Given the description of an element on the screen output the (x, y) to click on. 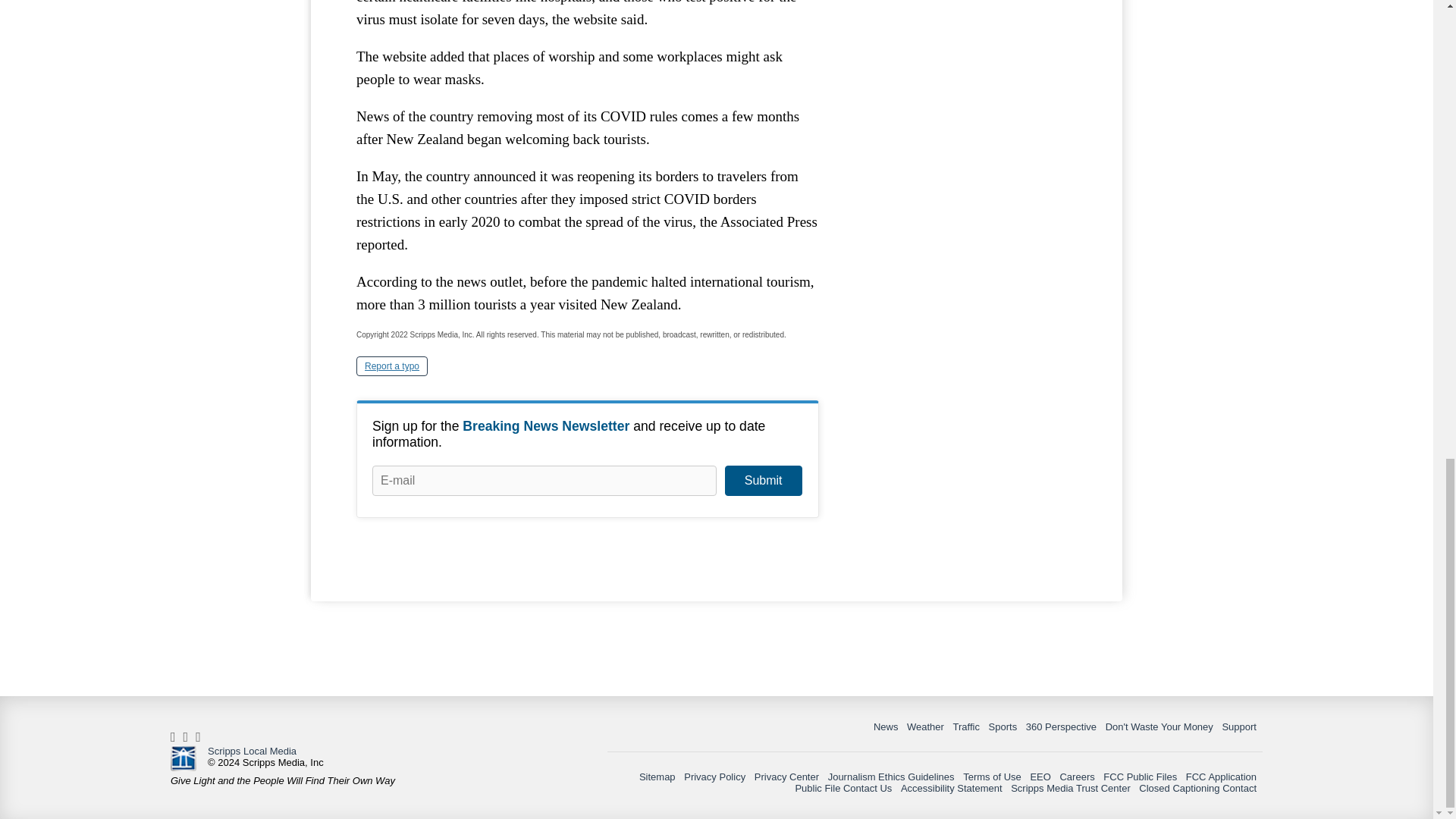
Submit (763, 481)
